Given the description of an element on the screen output the (x, y) to click on. 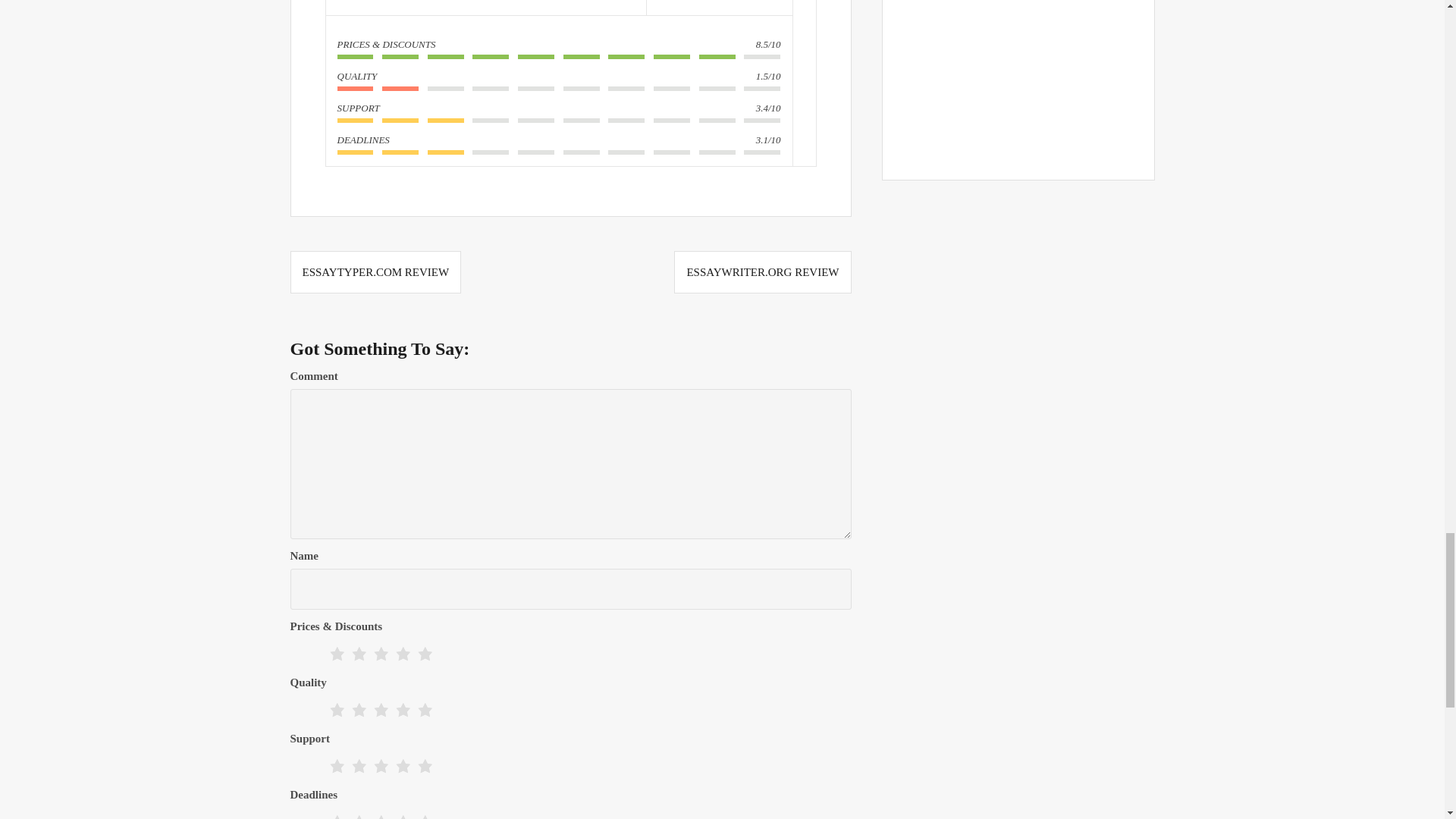
ESSAYTYPER.COM REVIEW (374, 272)
ESSAYWRITER.ORG REVIEW (761, 272)
Studybay (485, 2)
